Given the description of an element on the screen output the (x, y) to click on. 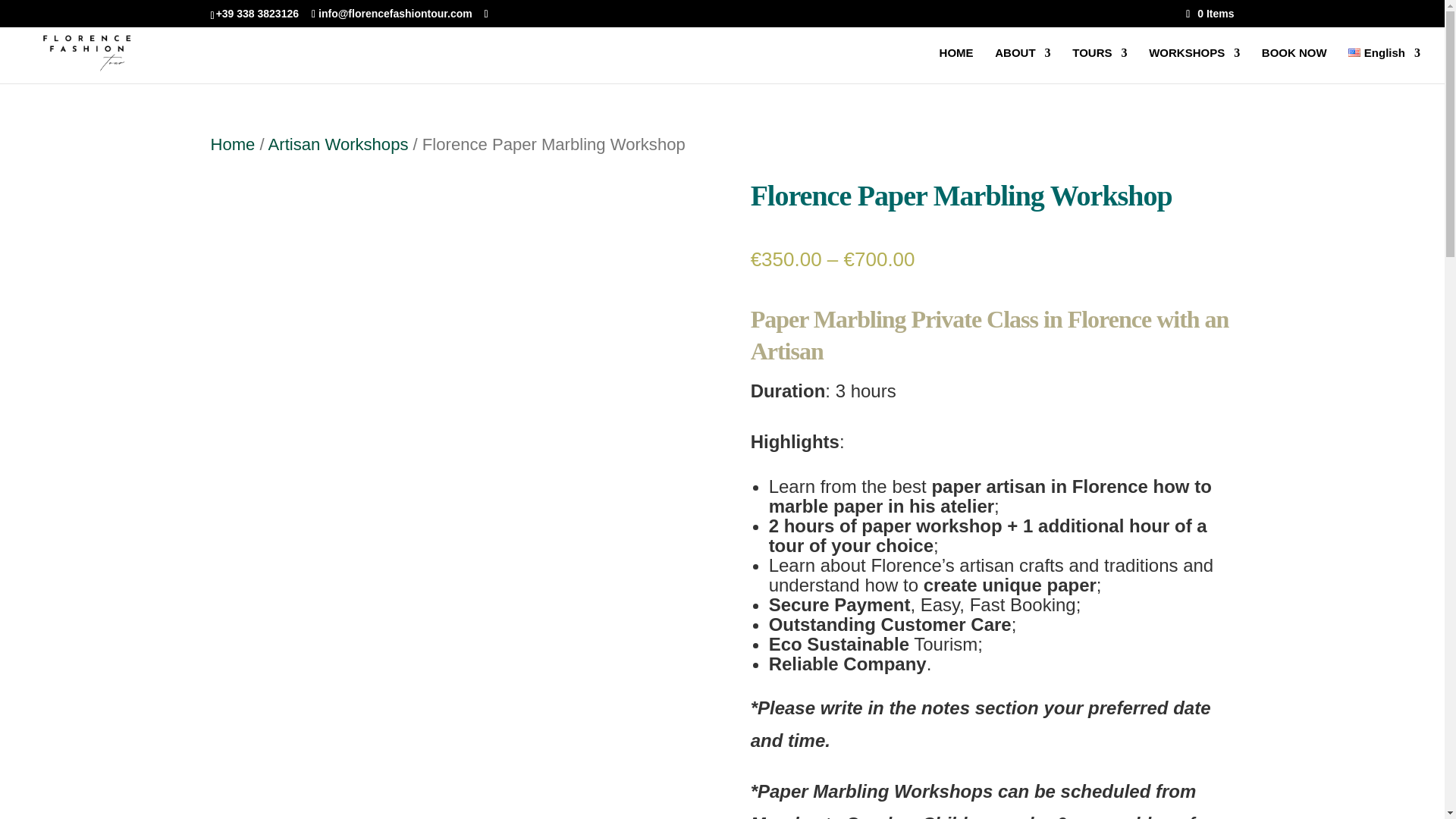
HOME (956, 65)
BOOK NOW (1294, 65)
TOURS (1098, 65)
0 Items (1209, 13)
ABOUT (1021, 65)
English (1384, 65)
WORKSHOPS (1194, 65)
Artisan Workshops (338, 144)
Home (233, 144)
